Given the description of an element on the screen output the (x, y) to click on. 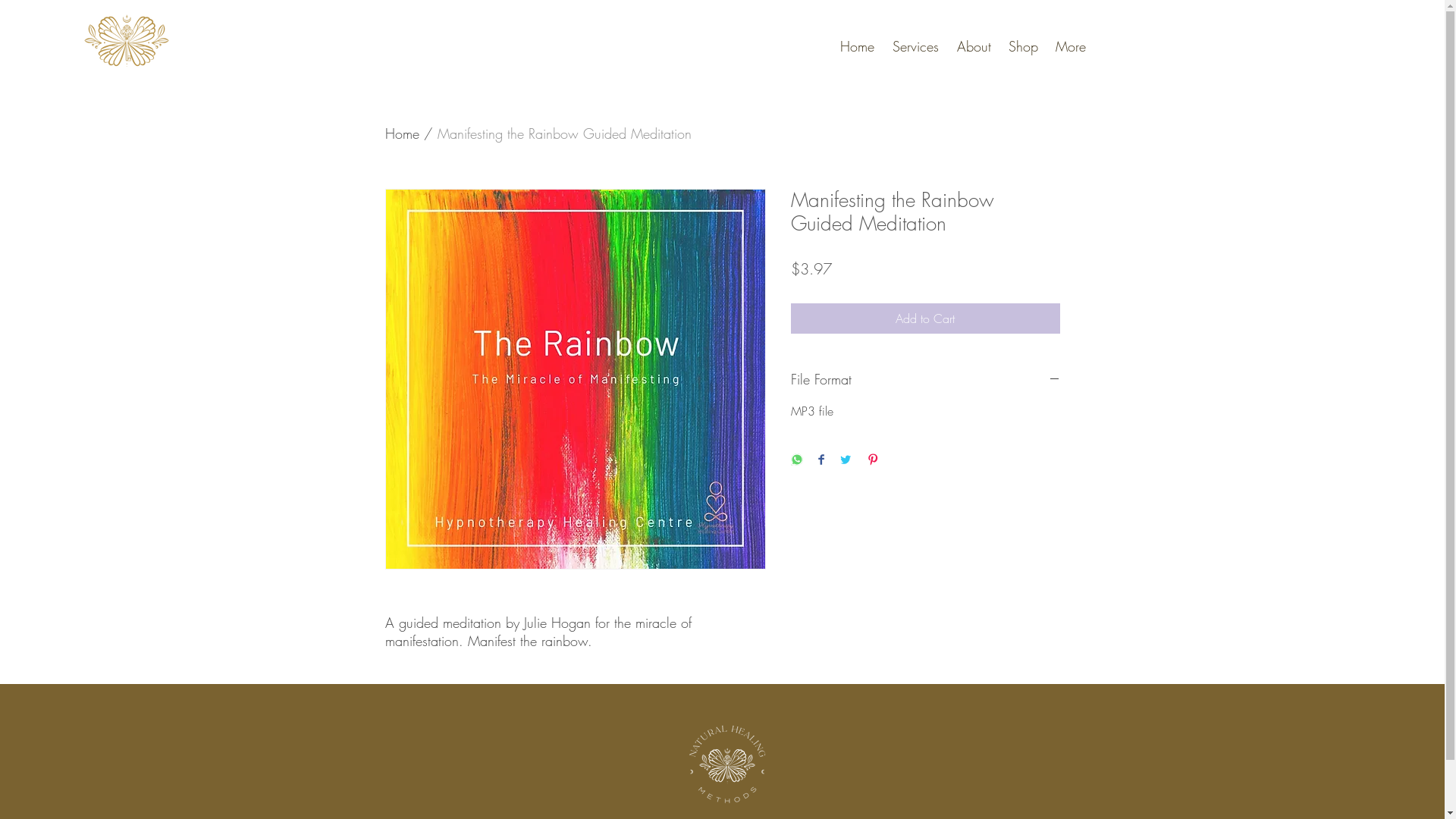
Shop Element type: text (1020, 46)
Home Element type: text (855, 46)
File Format Element type: text (924, 379)
Add to Cart Element type: text (924, 318)
Manifesting the Rainbow Guided Meditation Element type: text (563, 133)
About Element type: text (972, 46)
Home Element type: text (402, 133)
